Given the description of an element on the screen output the (x, y) to click on. 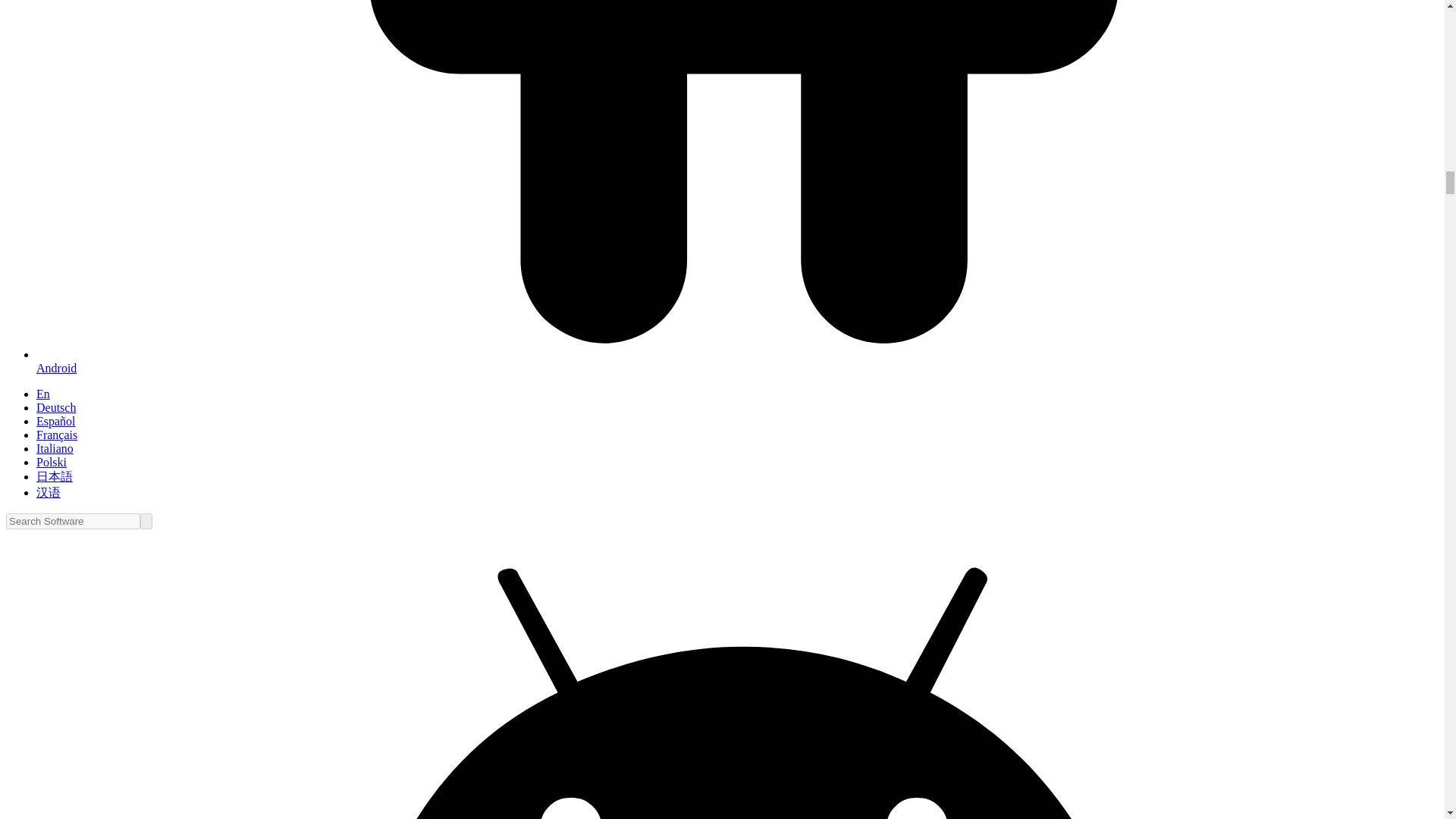
English (42, 393)
Italiano (55, 448)
Polski (51, 461)
Polski (51, 461)
Italiano (55, 448)
Deutsch (55, 407)
En (42, 393)
Deutsch (55, 407)
